Given the description of an element on the screen output the (x, y) to click on. 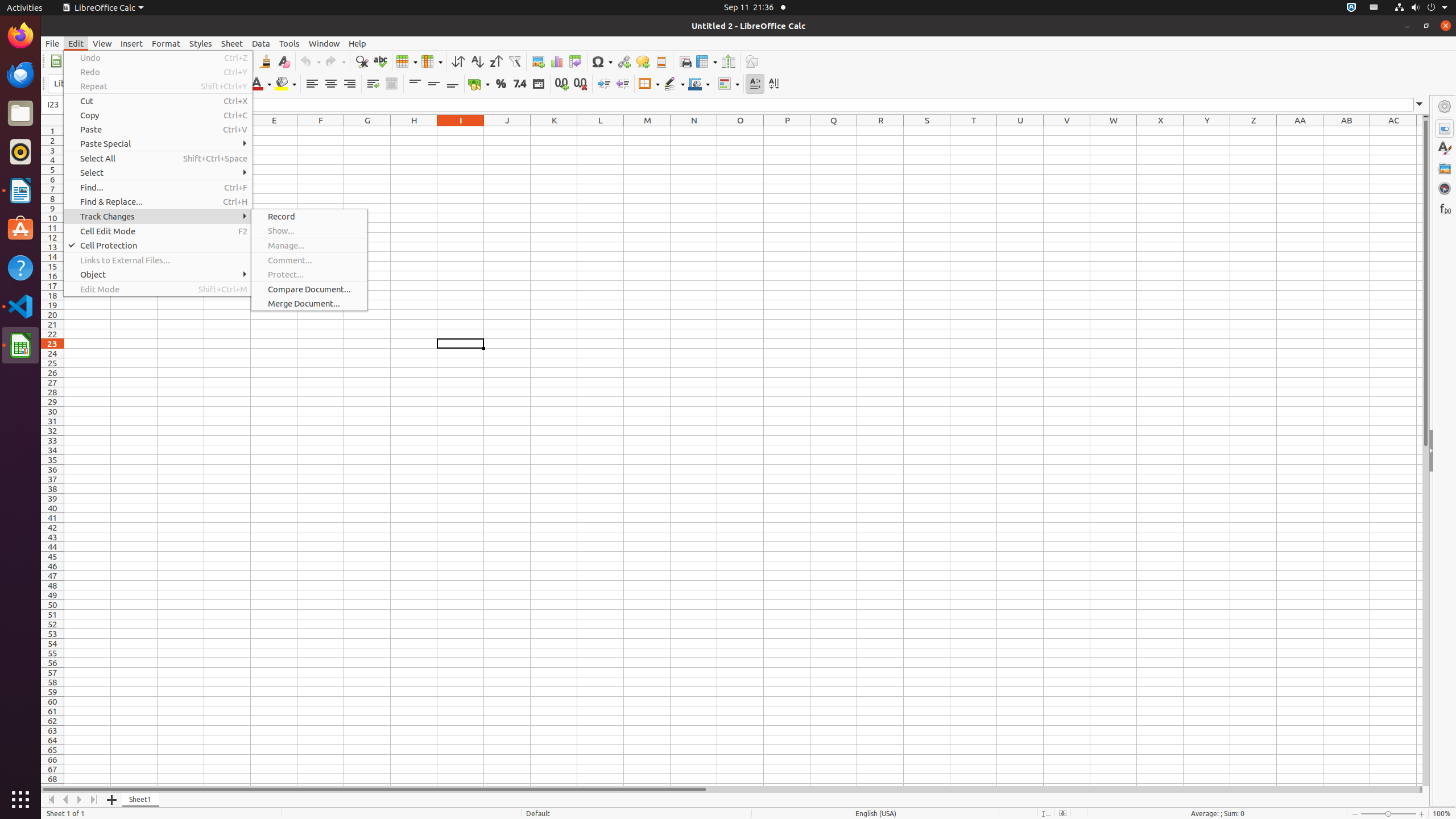
Cell Edit Mode Element type: menu-item (157, 231)
Number Element type: push-button (519, 83)
AutoFilter Element type: push-button (514, 61)
Column Element type: push-button (431, 61)
J1 Element type: table-cell (507, 130)
